Given the description of an element on the screen output the (x, y) to click on. 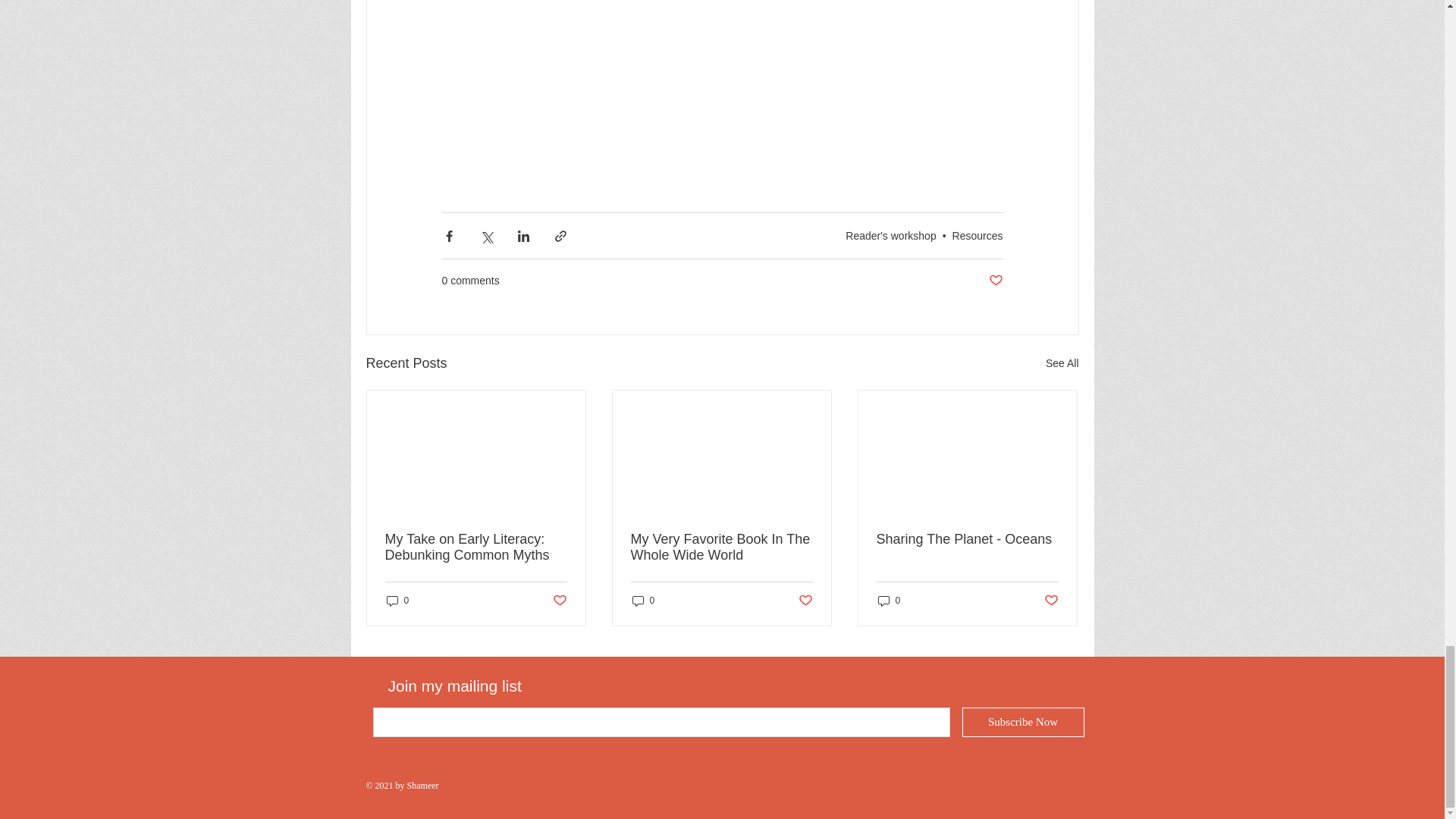
My Take on Early Literacy: Debunking Common Myths (476, 547)
0 (643, 599)
Post not marked as liked (804, 600)
Post not marked as liked (995, 280)
My Very Favorite Book In The Whole Wide World (721, 547)
Reader's workshop (890, 234)
Post not marked as liked (1050, 600)
Subscribe Now (1021, 722)
Resources (977, 234)
0 (889, 599)
Post not marked as liked (558, 600)
0 (397, 599)
See All (1061, 363)
Sharing The Planet - Oceans (967, 539)
